Given the description of an element on the screen output the (x, y) to click on. 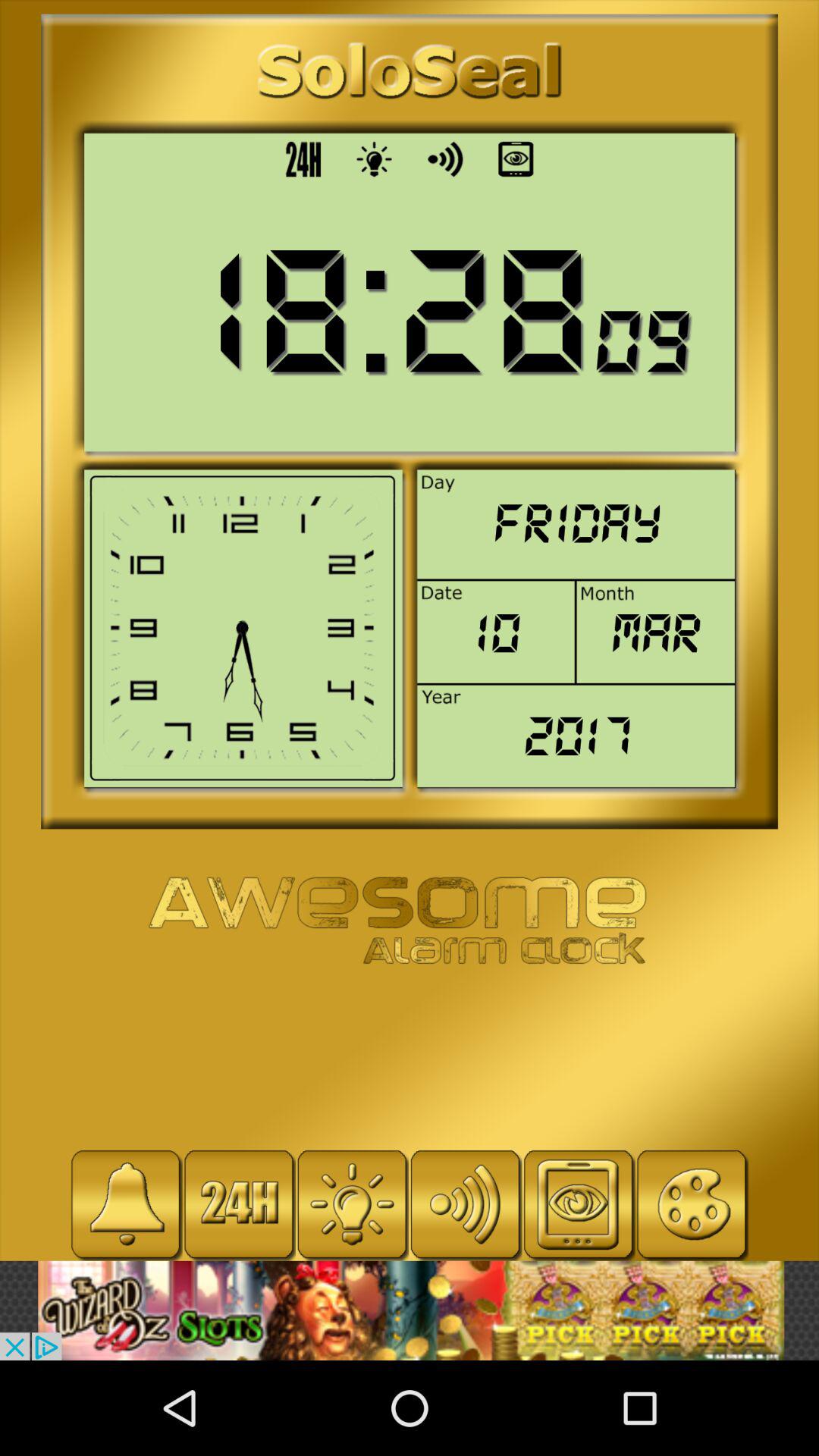
open paint (691, 1203)
